Given the description of an element on the screen output the (x, y) to click on. 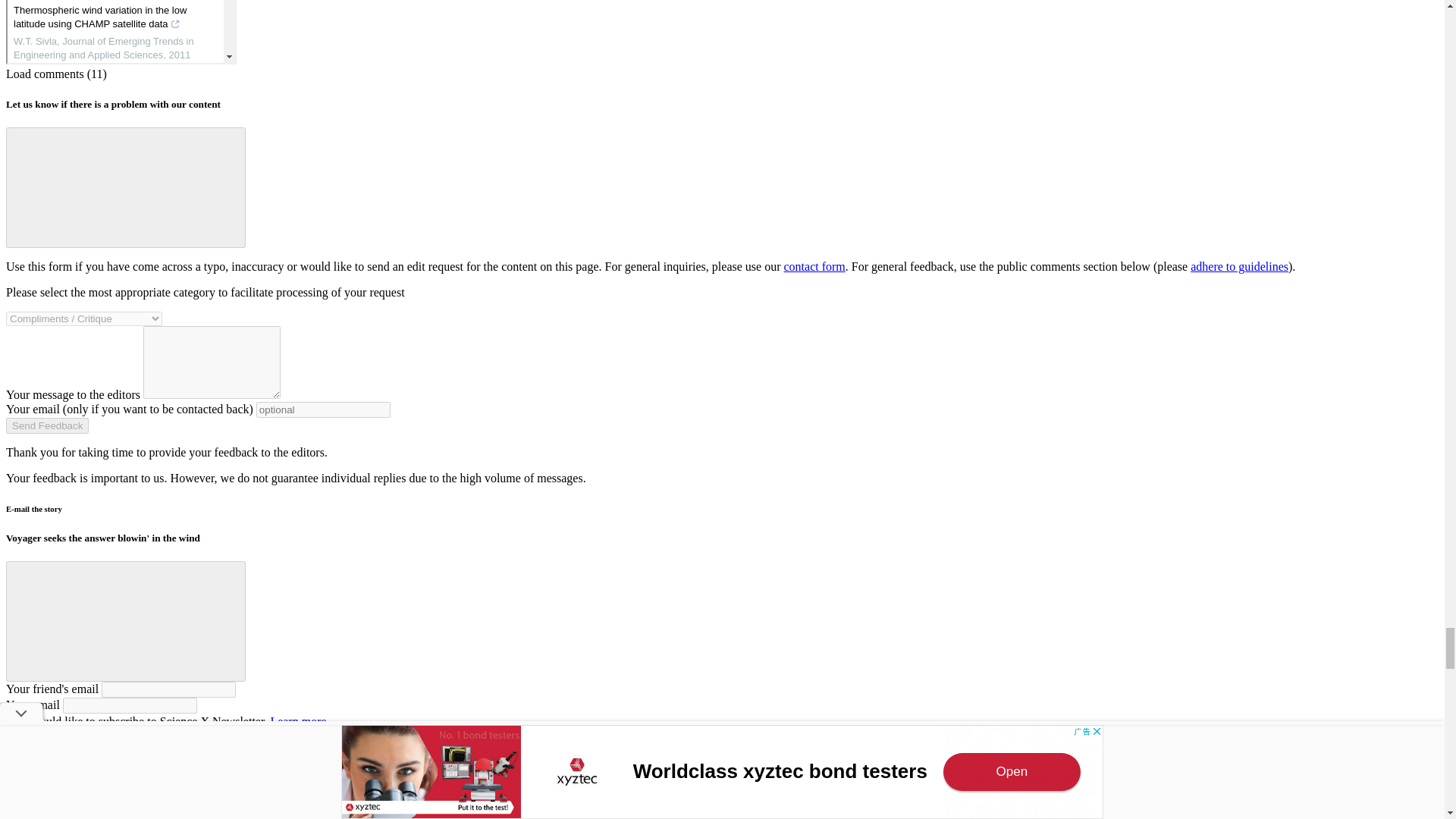
1 (13, 720)
